Given the description of an element on the screen output the (x, y) to click on. 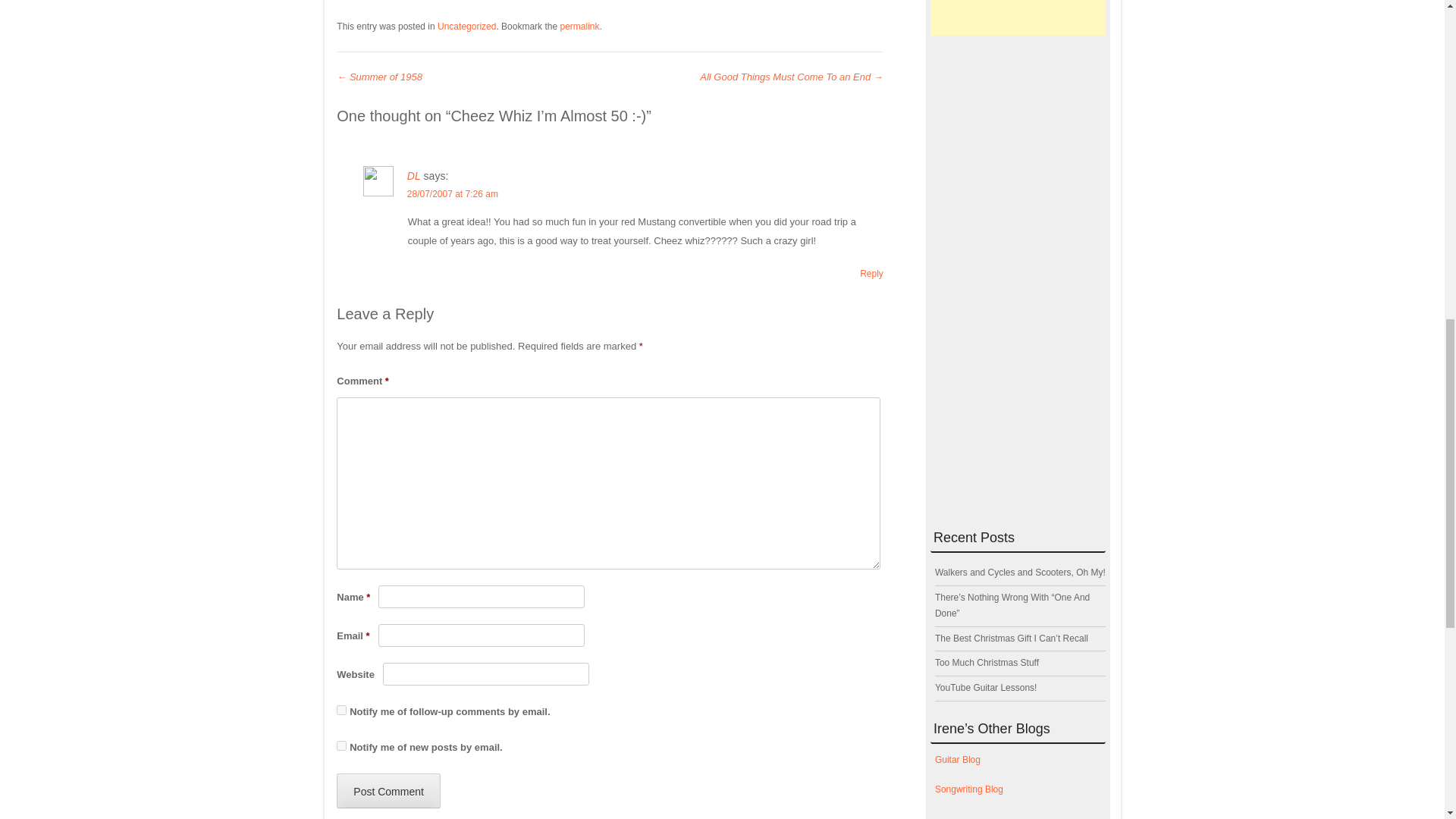
DL (413, 175)
Walkers and Cycles and Scooters, Oh My! (1019, 572)
Uncategorized (467, 26)
Too Much Christmas Stuff (986, 662)
subscribe (341, 746)
Post Comment (388, 790)
Songwriting Blog (968, 788)
Reply (871, 273)
Guitar Blog (956, 759)
YouTube Guitar Lessons! (985, 687)
